Given the description of an element on the screen output the (x, y) to click on. 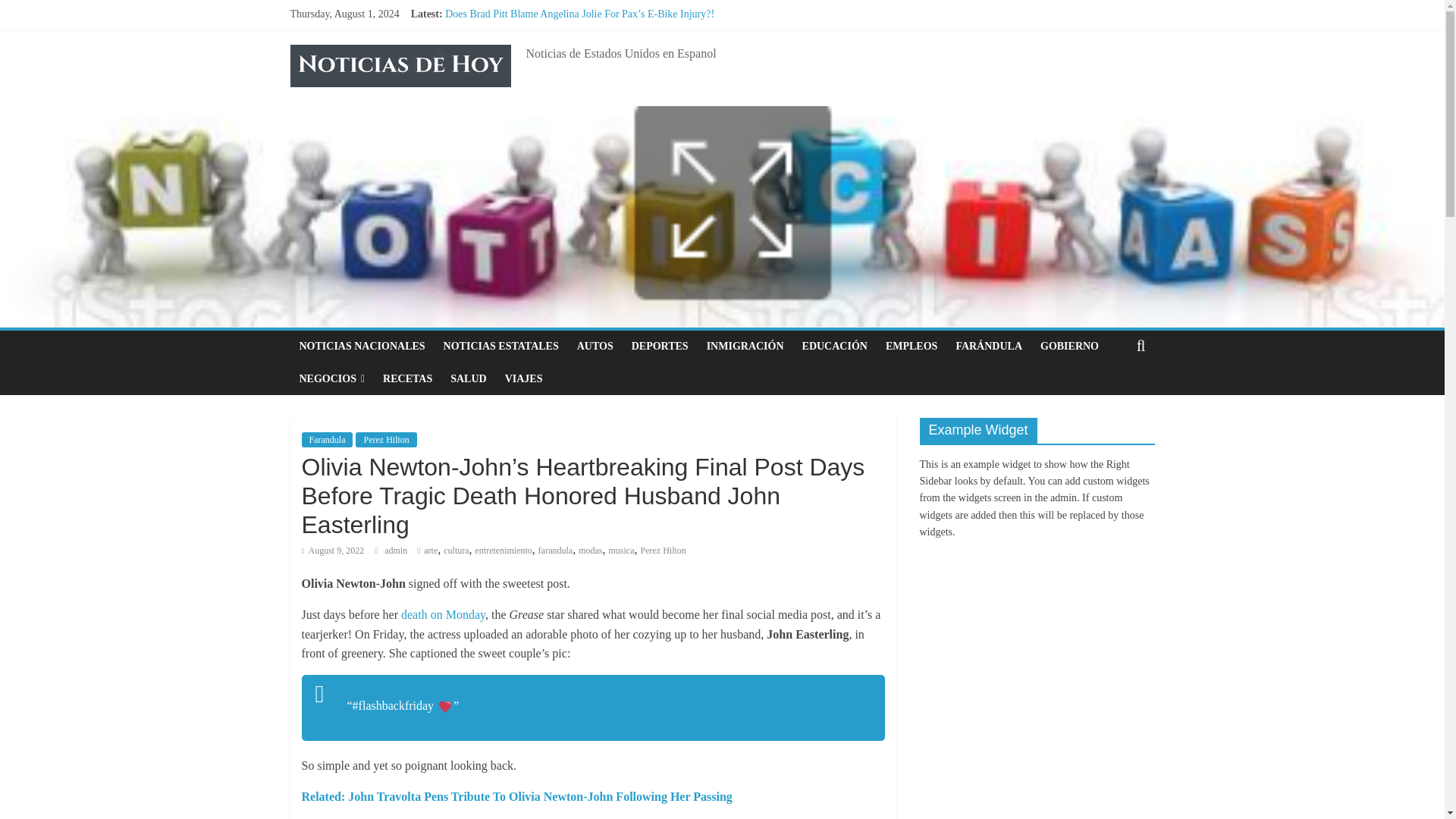
Perez Hilton (662, 550)
RECETAS (407, 378)
musica (621, 550)
Perez Hilton (385, 439)
AUTOS (595, 346)
GOBIERNO (1069, 346)
VIAJES (523, 378)
EMPLEOS (911, 346)
NOTICIAS ESTATALES (500, 346)
cultura (456, 550)
arte (430, 550)
August 9, 2022 (333, 550)
death on Monday (442, 614)
admin (396, 550)
